Given the description of an element on the screen output the (x, y) to click on. 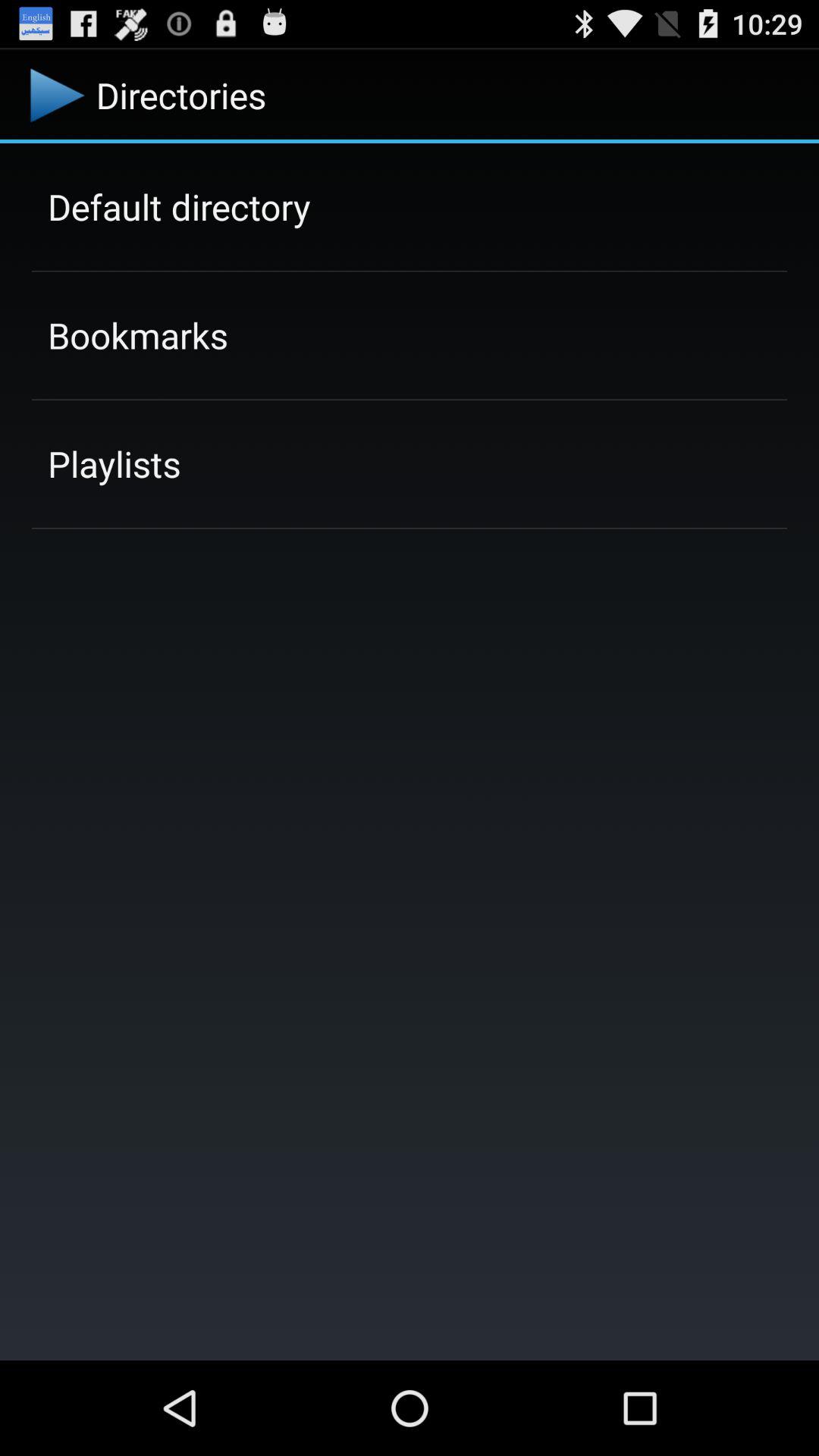
flip to default directory item (178, 206)
